Given the description of an element on the screen output the (x, y) to click on. 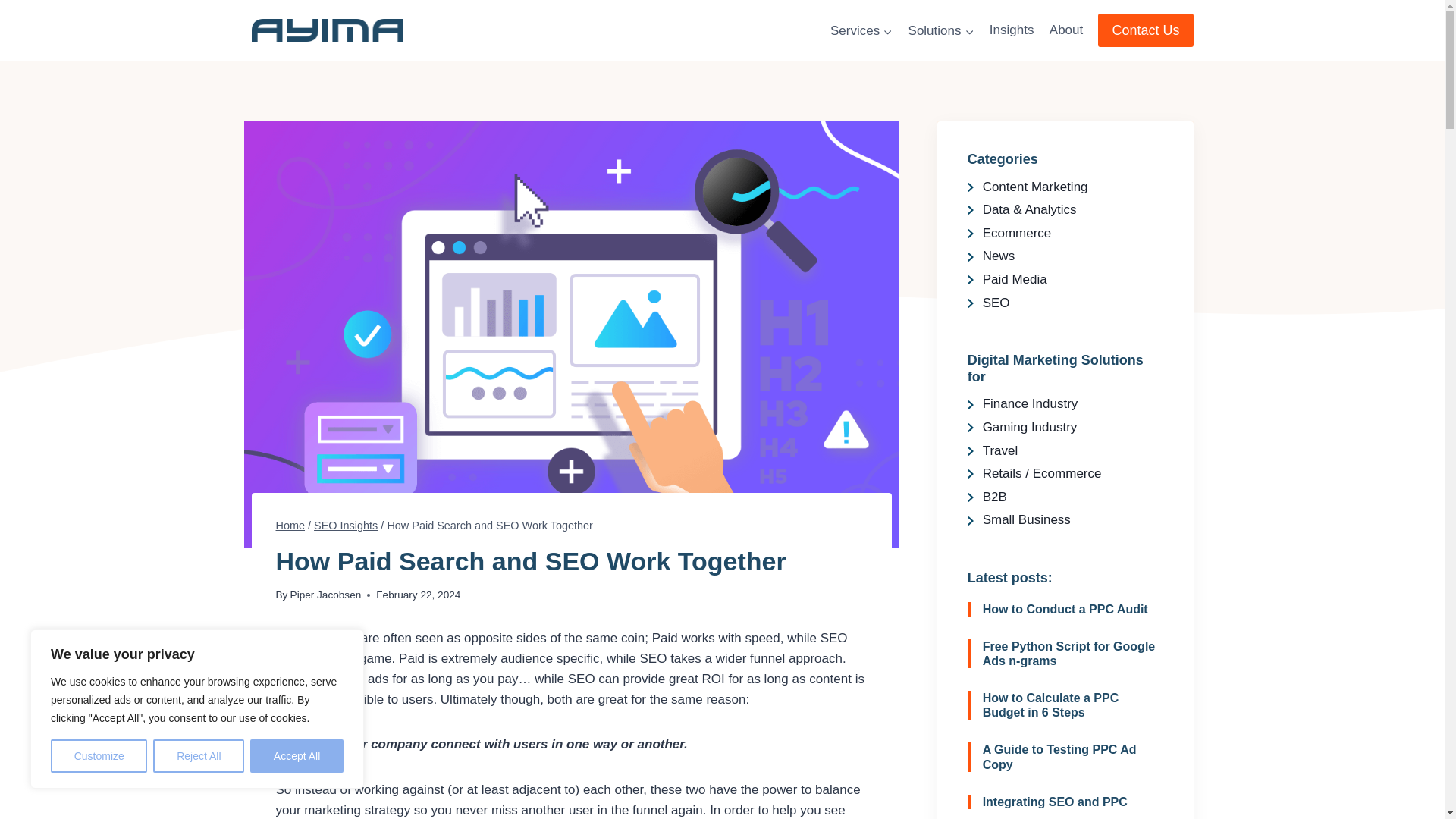
Services (861, 31)
Solutions (940, 31)
Customize (98, 756)
Contact Us (1144, 29)
Accept All (296, 756)
Home (290, 525)
Insights (1011, 30)
About (1066, 30)
Reject All (198, 756)
